Given the description of an element on the screen output the (x, y) to click on. 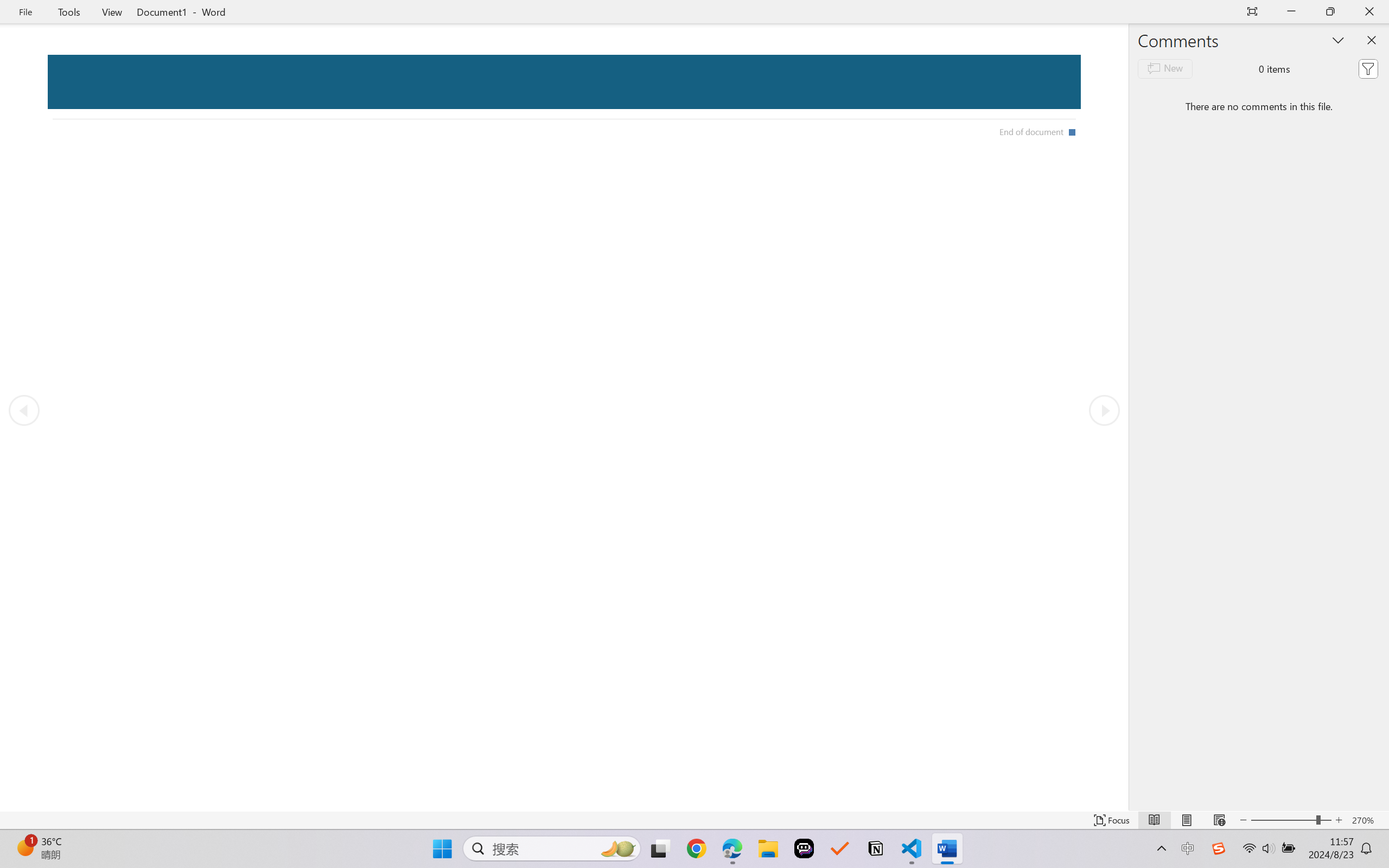
Filter (1367, 68)
Tools (69, 11)
Decrease Text Size (1243, 819)
